Given the description of an element on the screen output the (x, y) to click on. 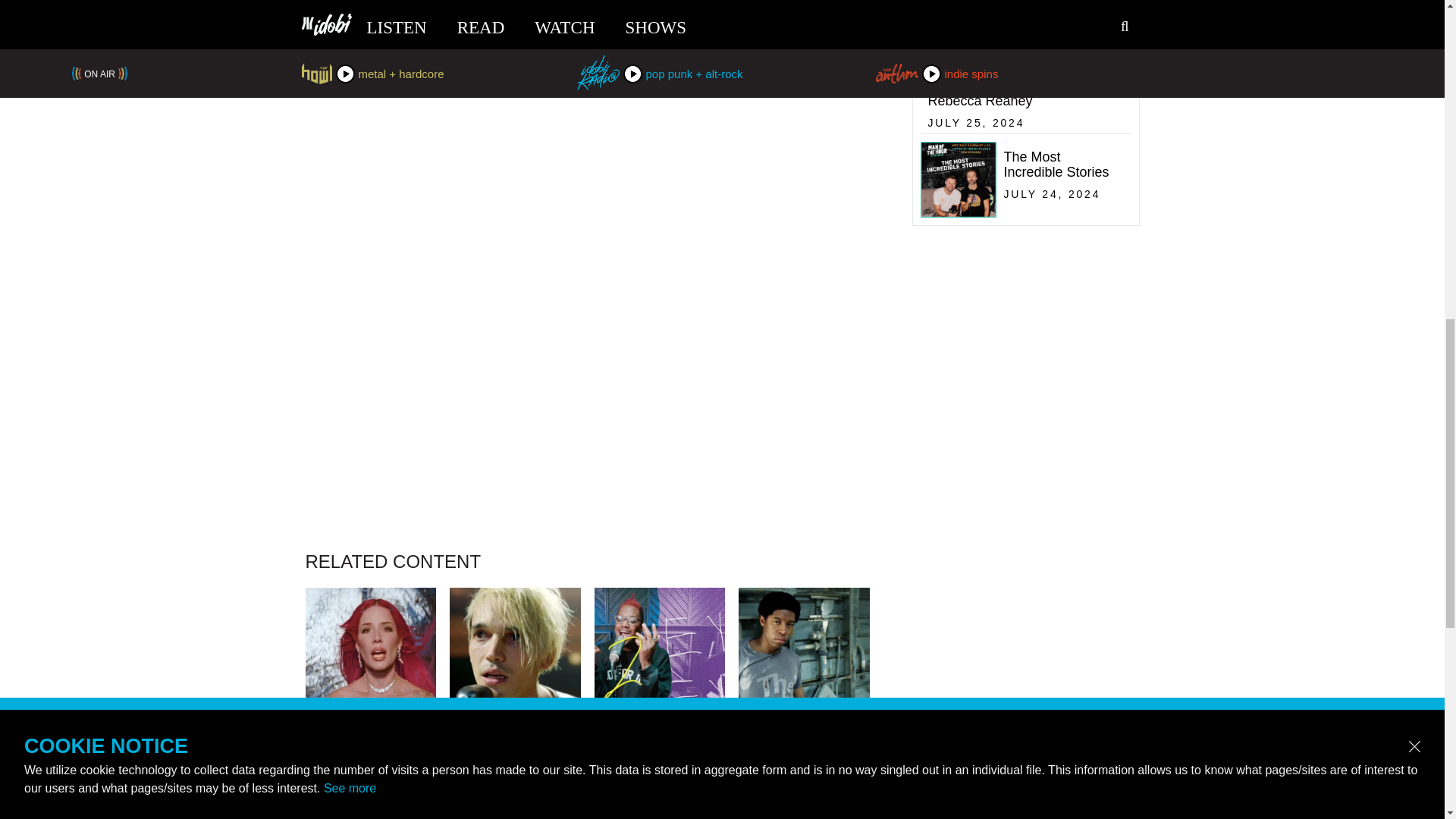
NEWS (369, 759)
NEWS (514, 759)
NEWS (803, 759)
NEWS (659, 759)
